Given the description of an element on the screen output the (x, y) to click on. 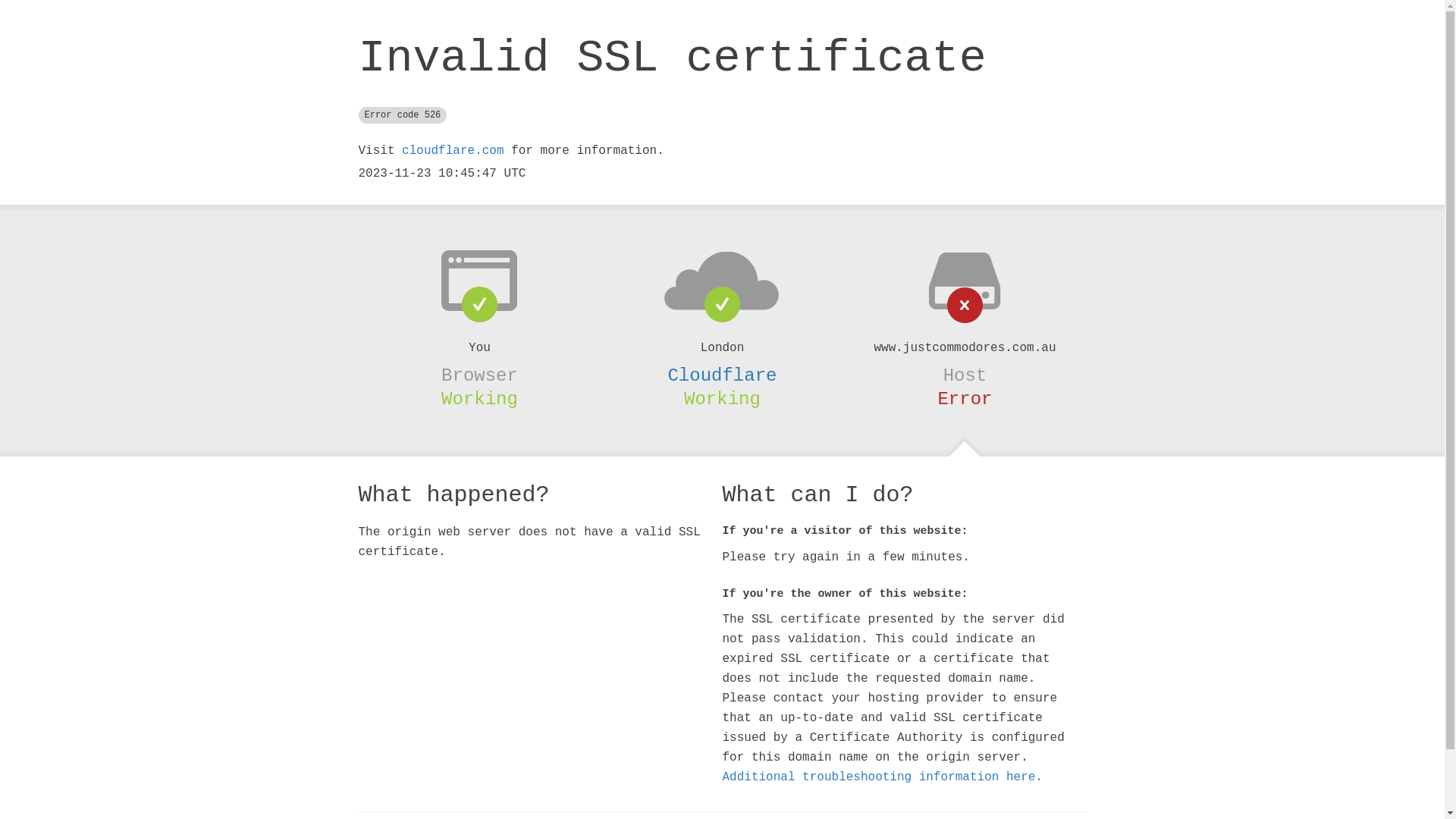
Additional troubleshooting information here. Element type: text (881, 777)
cloudflare.com Element type: text (452, 150)
Cloudflare Element type: text (721, 375)
